Given the description of an element on the screen output the (x, y) to click on. 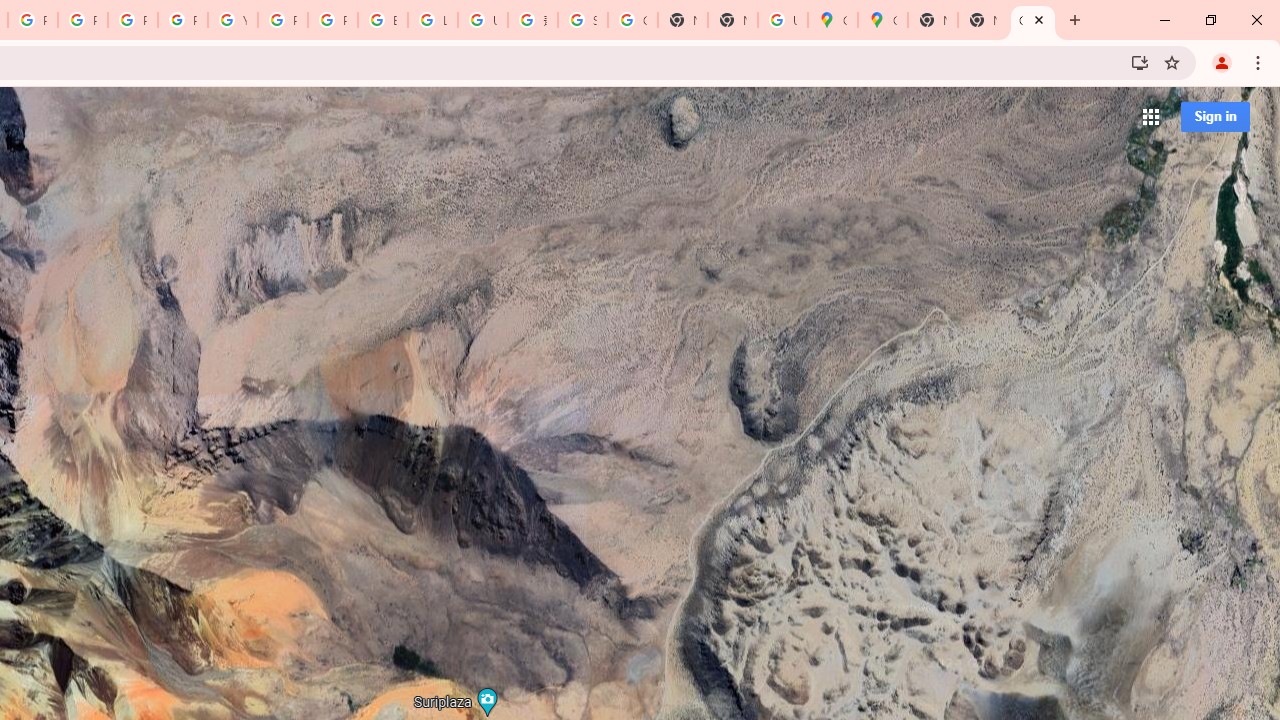
Browse Chrome as a guest - Computer - Google Chrome Help (383, 20)
Google Maps (1032, 20)
Privacy Help Center - Policies Help (132, 20)
Google Maps (882, 20)
YouTube (232, 20)
New Tab (732, 20)
